Given the description of an element on the screen output the (x, y) to click on. 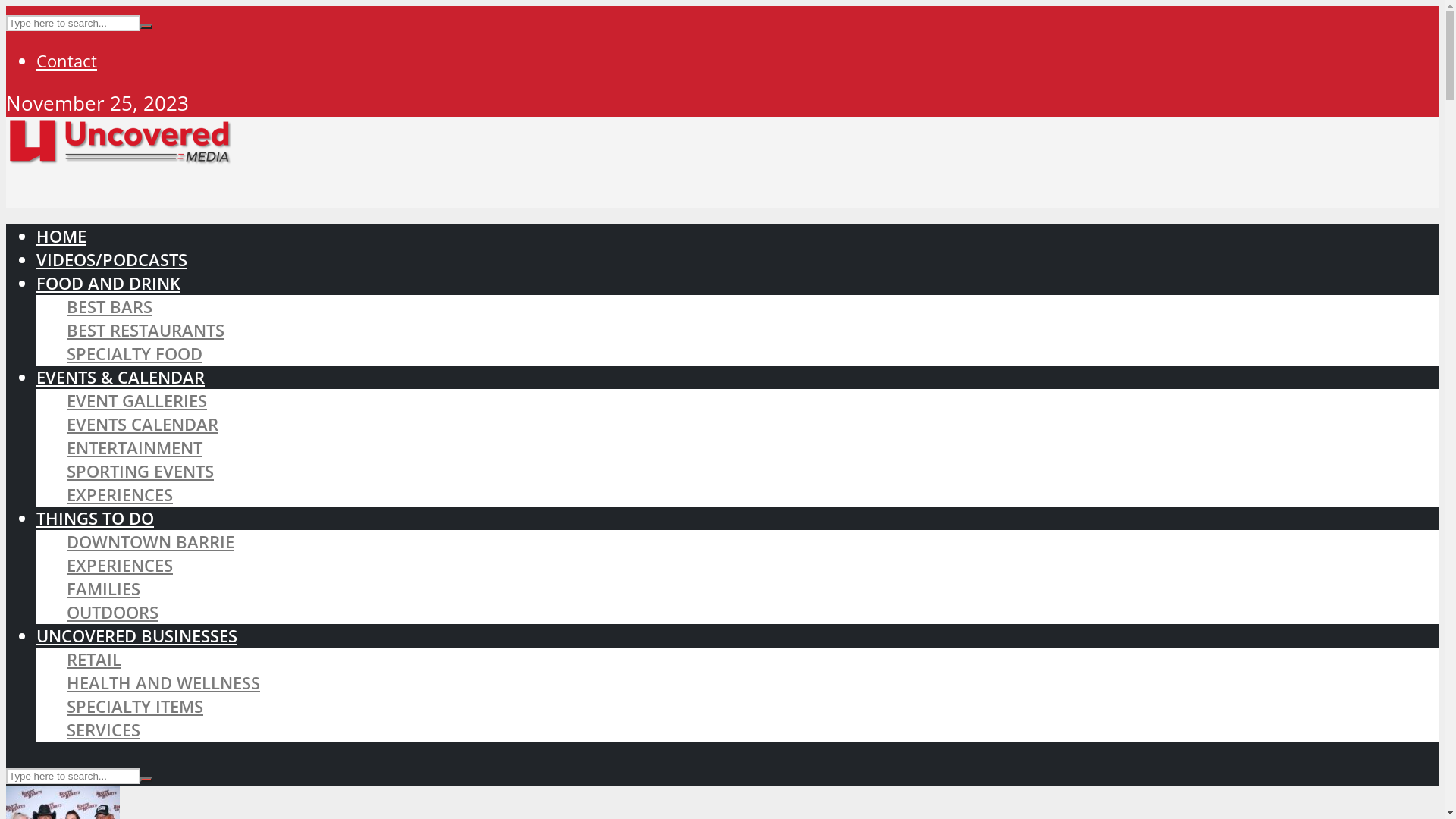
SPORTING EVENTS Element type: text (139, 471)
EVENTS CALENDAR Element type: text (142, 424)
RETAIL Element type: text (93, 659)
BEST RESTAURANTS Element type: text (145, 330)
SPECIALTY ITEMS Element type: text (134, 706)
EVENTS & CALENDAR Element type: text (120, 377)
THINGS TO DO Element type: text (94, 518)
VIDEOS/PODCASTS Element type: text (111, 259)
Contact Element type: text (66, 60)
HEALTH AND WELLNESS Element type: text (163, 682)
OUTDOORS Element type: text (112, 612)
BEST BARS Element type: text (109, 306)
FAMILIES Element type: text (103, 588)
ENTERTAINMENT Element type: text (134, 447)
EXPERIENCES Element type: text (119, 565)
FOOD AND DRINK Element type: text (108, 282)
SPECIALTY FOOD Element type: text (134, 353)
EVENT GALLERIES Element type: text (136, 400)
DOWNTOWN BARRIE Element type: text (150, 541)
UNCOVERED BUSINESSES Element type: text (136, 635)
EXPERIENCES Element type: text (119, 494)
HOME Element type: text (61, 235)
SERVICES Element type: text (103, 729)
